Given the description of an element on the screen output the (x, y) to click on. 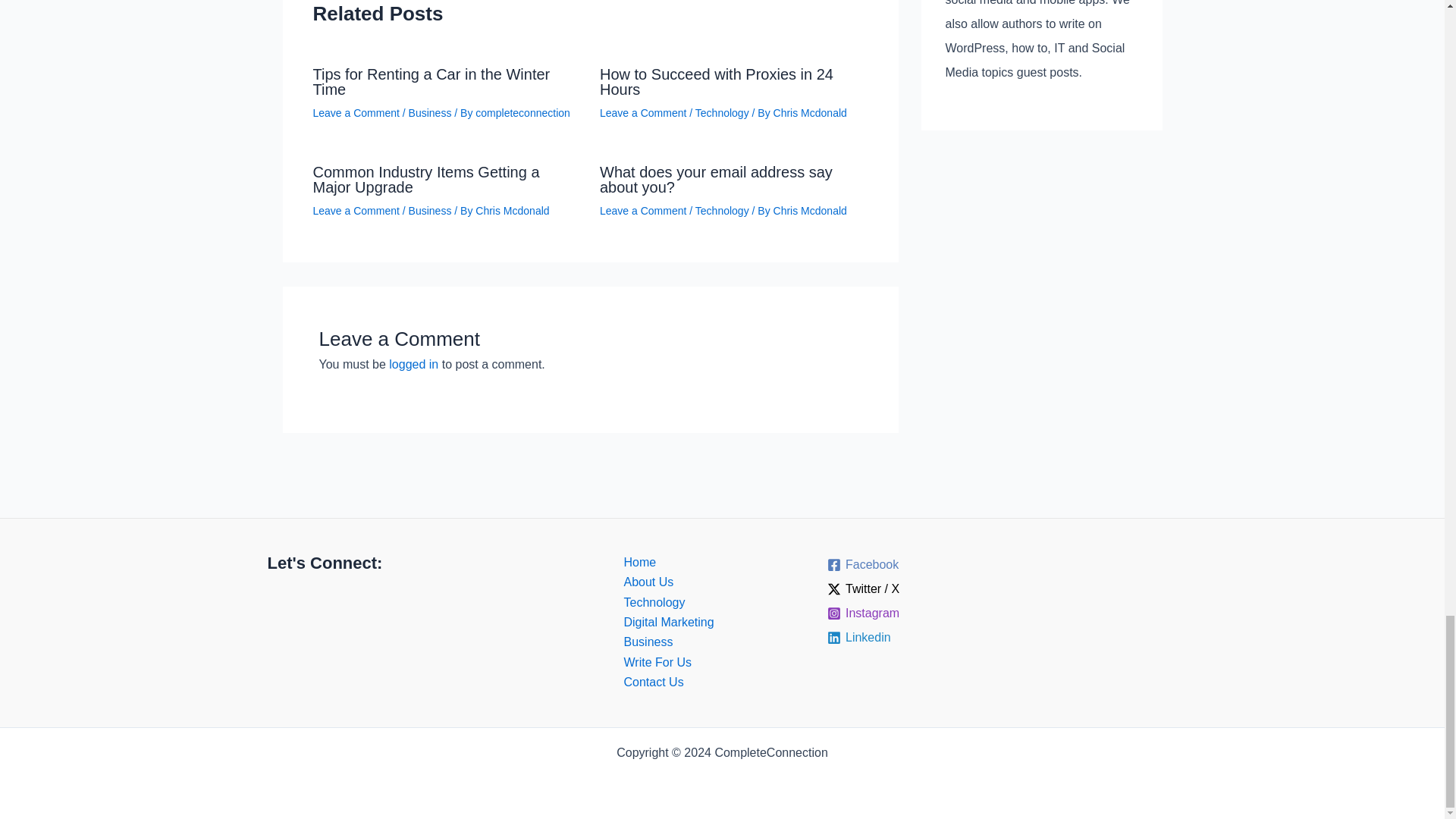
Leave a Comment (355, 112)
Technology (722, 112)
View all posts by completeconnection (523, 112)
Business (430, 112)
Leave a Comment (642, 112)
View all posts by Chris Mcdonald (810, 210)
completeconnection (523, 112)
Tips for Renting a Car in the Winter Time (431, 81)
View all posts by Chris Mcdonald (810, 112)
How to Succeed with Proxies in 24 Hours (715, 81)
